Given the description of an element on the screen output the (x, y) to click on. 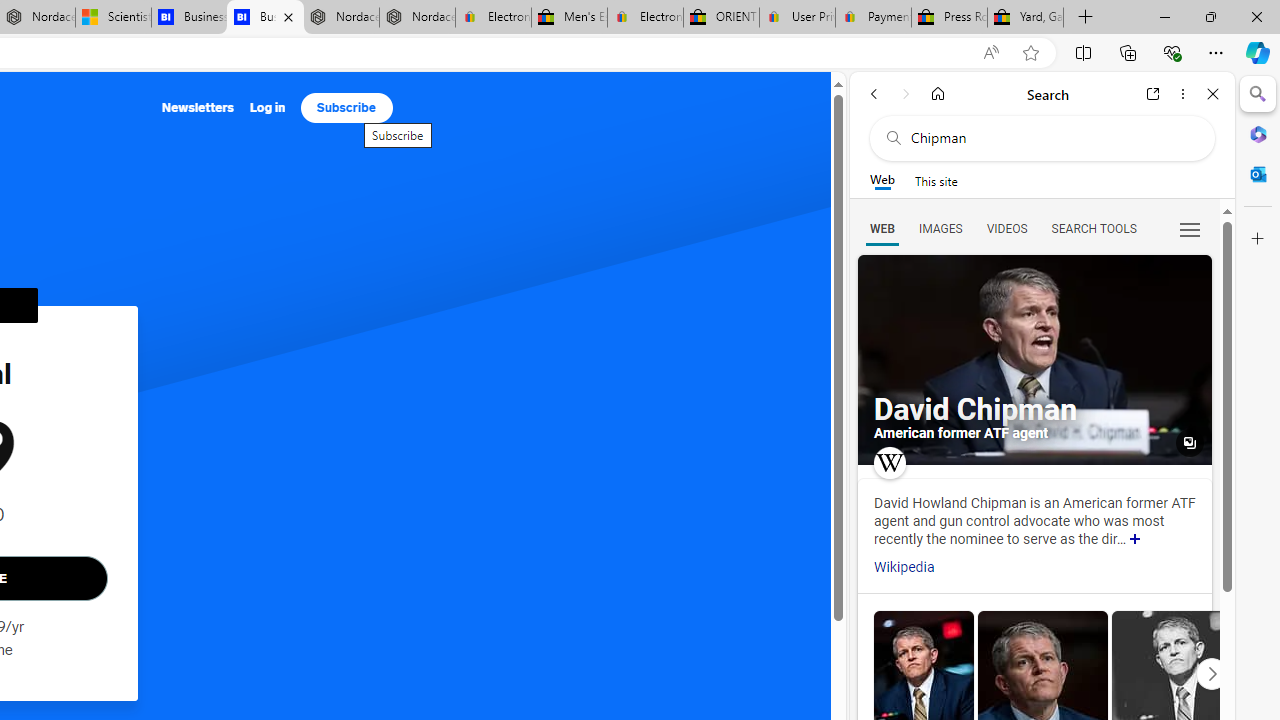
Log in (267, 107)
